Given the description of an element on the screen output the (x, y) to click on. 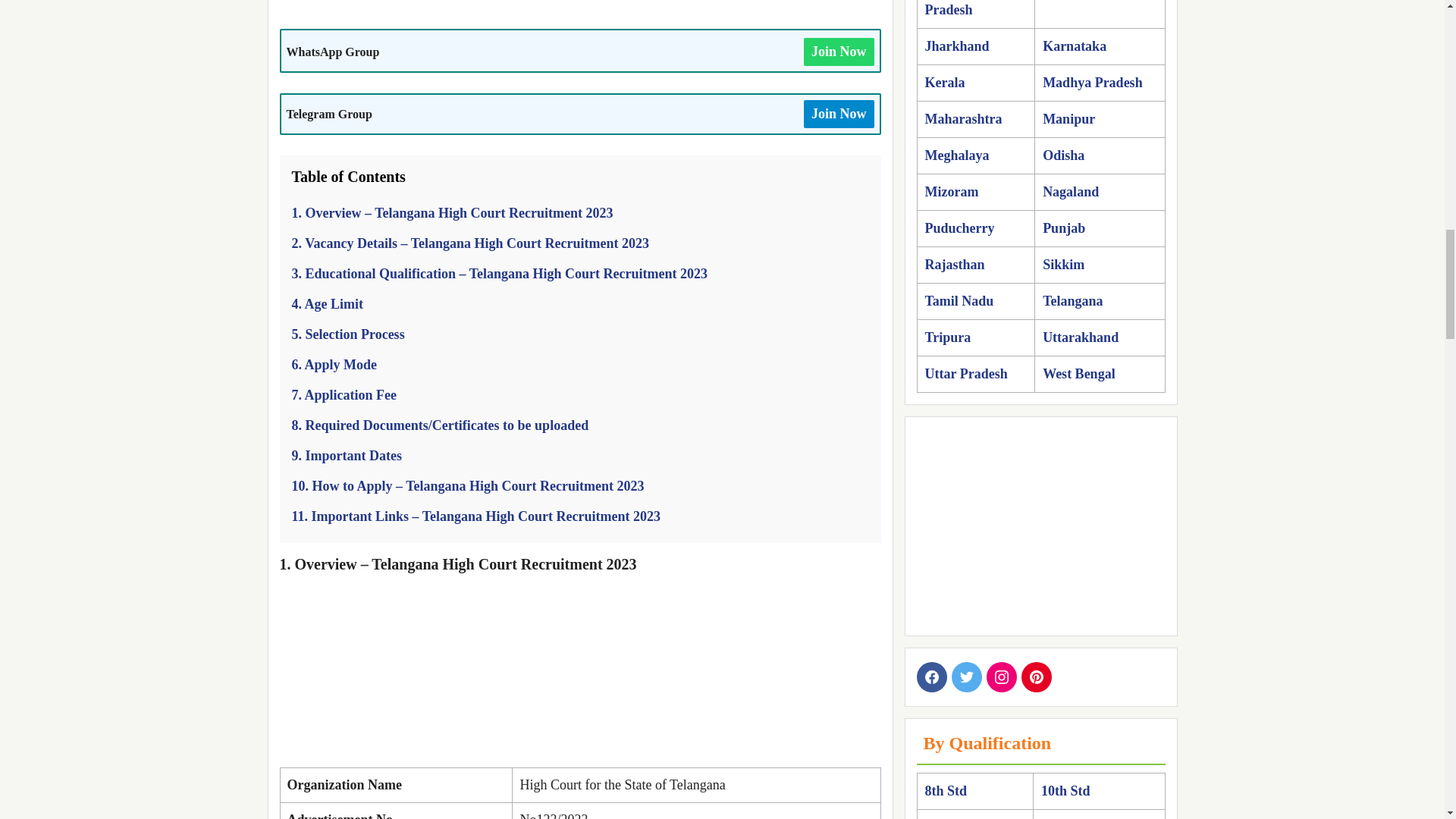
6. Apply Mode (334, 364)
Join Now (839, 51)
4. Age Limit (326, 304)
Join Now (839, 113)
5. Selection Process (347, 334)
